Given the description of an element on the screen output the (x, y) to click on. 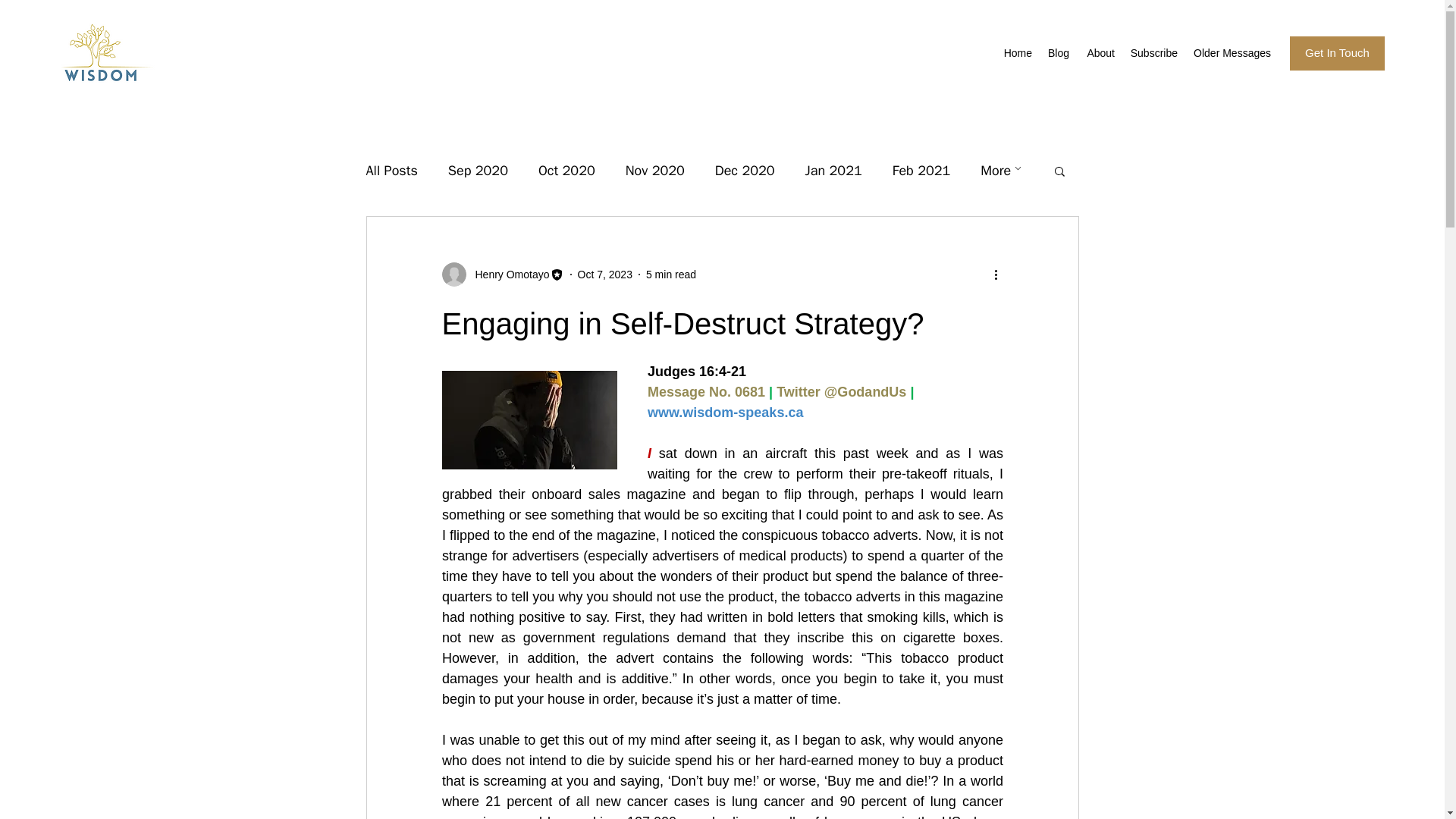
Get In Touch (1337, 53)
Home (1017, 52)
Dec 2020 (744, 170)
Oct 7, 2023 (604, 274)
Blog (1058, 52)
Feb 2021 (921, 170)
Sep 2020 (478, 170)
Oct 2020 (566, 170)
Subscribe (1153, 52)
www.wisdom-speaks.ca (725, 412)
